Given the description of an element on the screen output the (x, y) to click on. 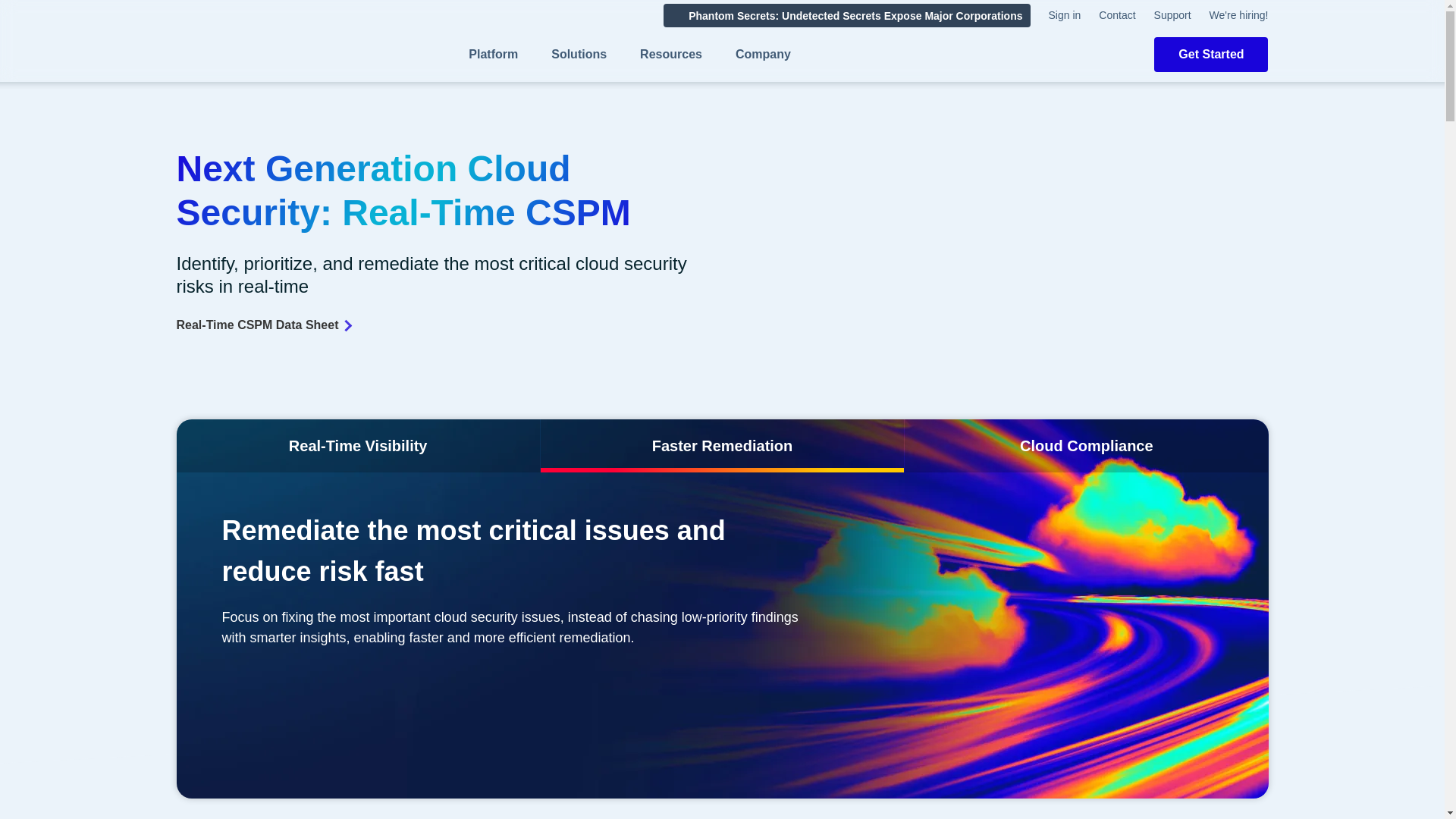
Sign in (1064, 15)
Resources (670, 54)
Aqua Security (234, 59)
Aqua Security (234, 59)
Contact (1117, 15)
Company (762, 54)
We're hiring! (1238, 15)
Support (1172, 15)
Solutions (578, 54)
Platform (493, 54)
